Given the description of an element on the screen output the (x, y) to click on. 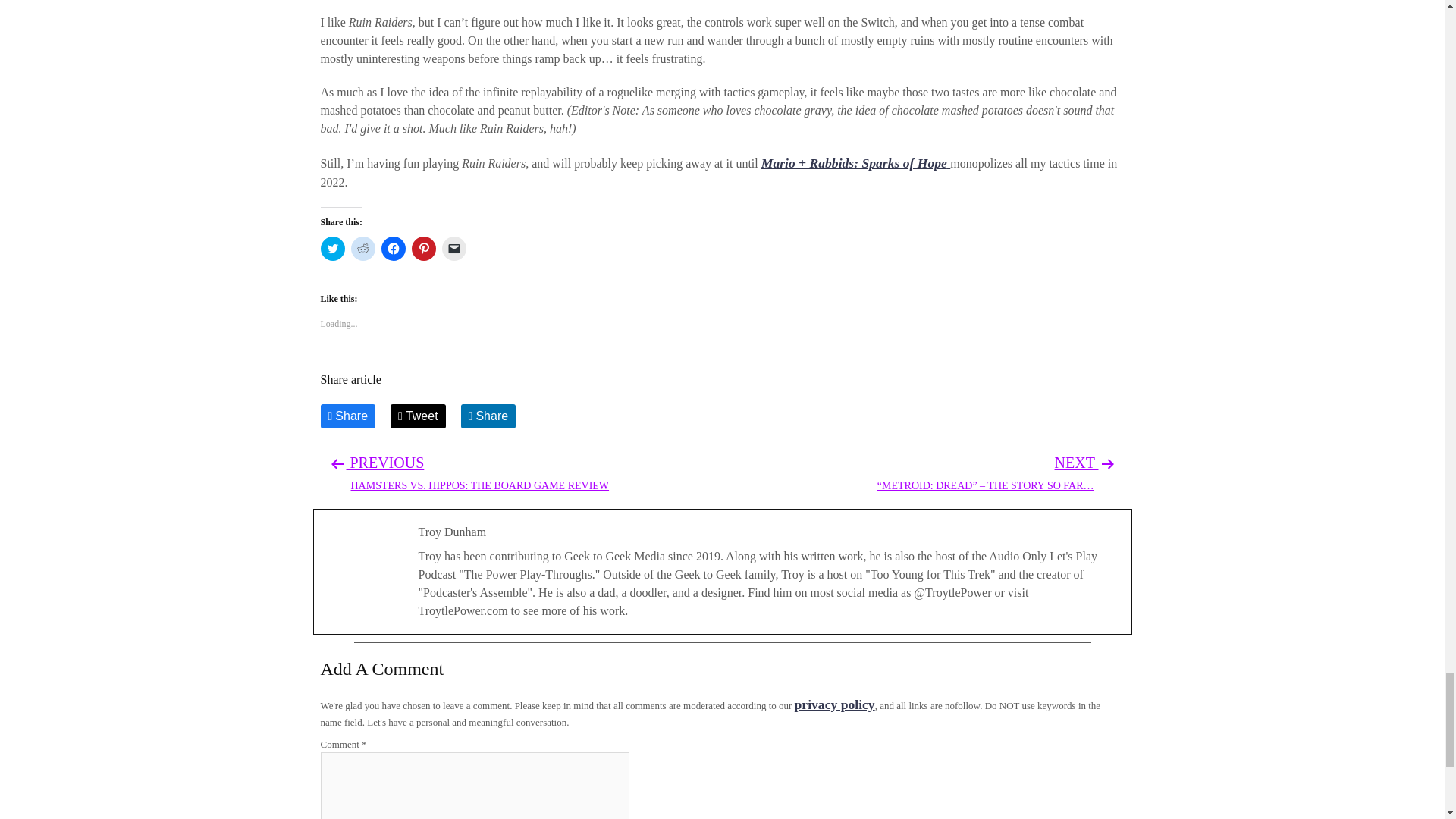
Click to share on Twitter (331, 248)
Click to share on Pinterest (422, 248)
Privacy Policy (834, 703)
Click to share on Facebook (392, 248)
Tweet (417, 416)
ruin-raiders-2 - Geek to Geek Media (479, 472)
privacy policy (722, 5)
Click to share on Reddit (834, 703)
Share (362, 248)
Share (347, 416)
Click to email a link to a friend (488, 416)
